Given the description of an element on the screen output the (x, y) to click on. 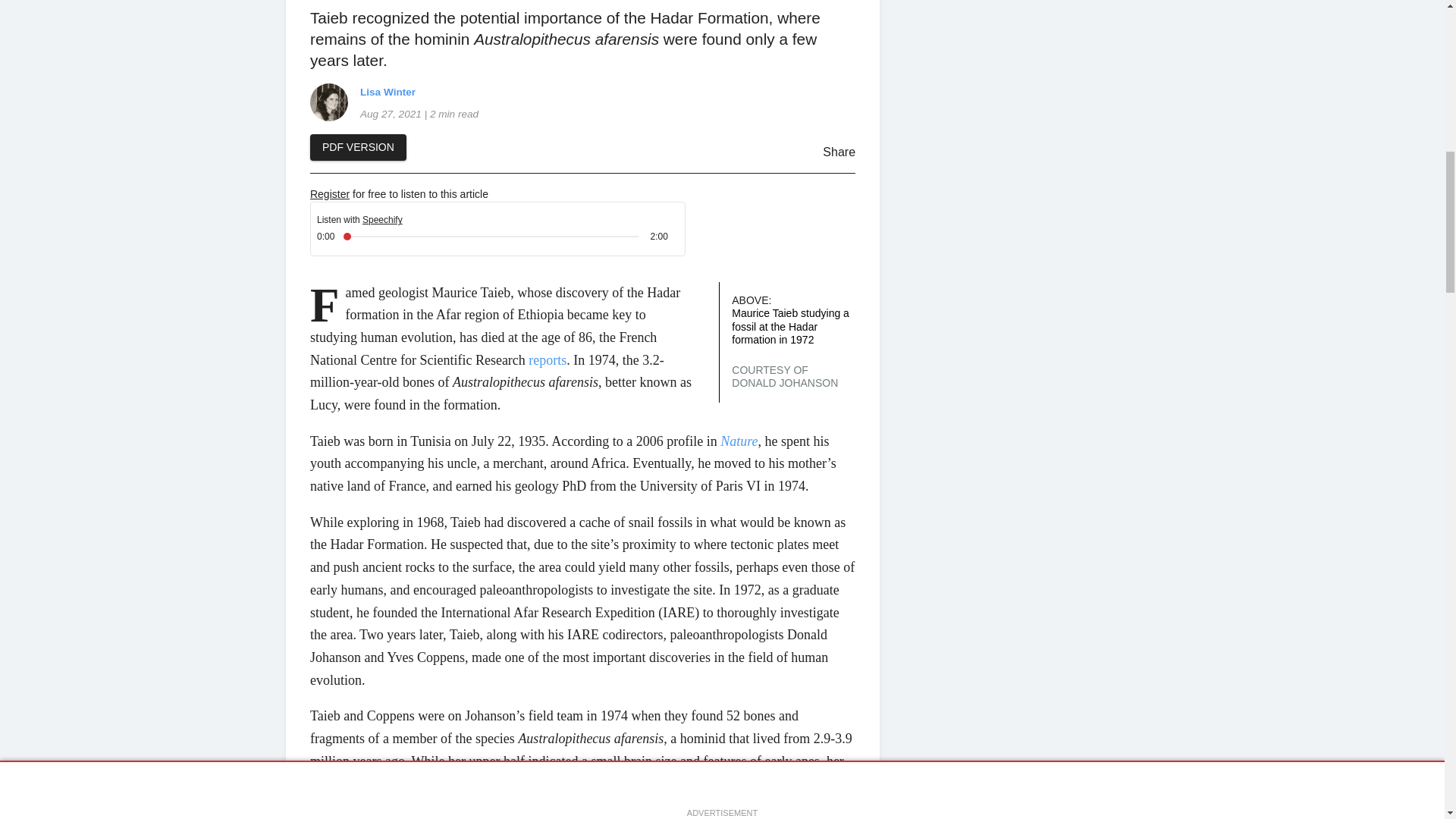
Lisa Winter (328, 102)
